Given the description of an element on the screen output the (x, y) to click on. 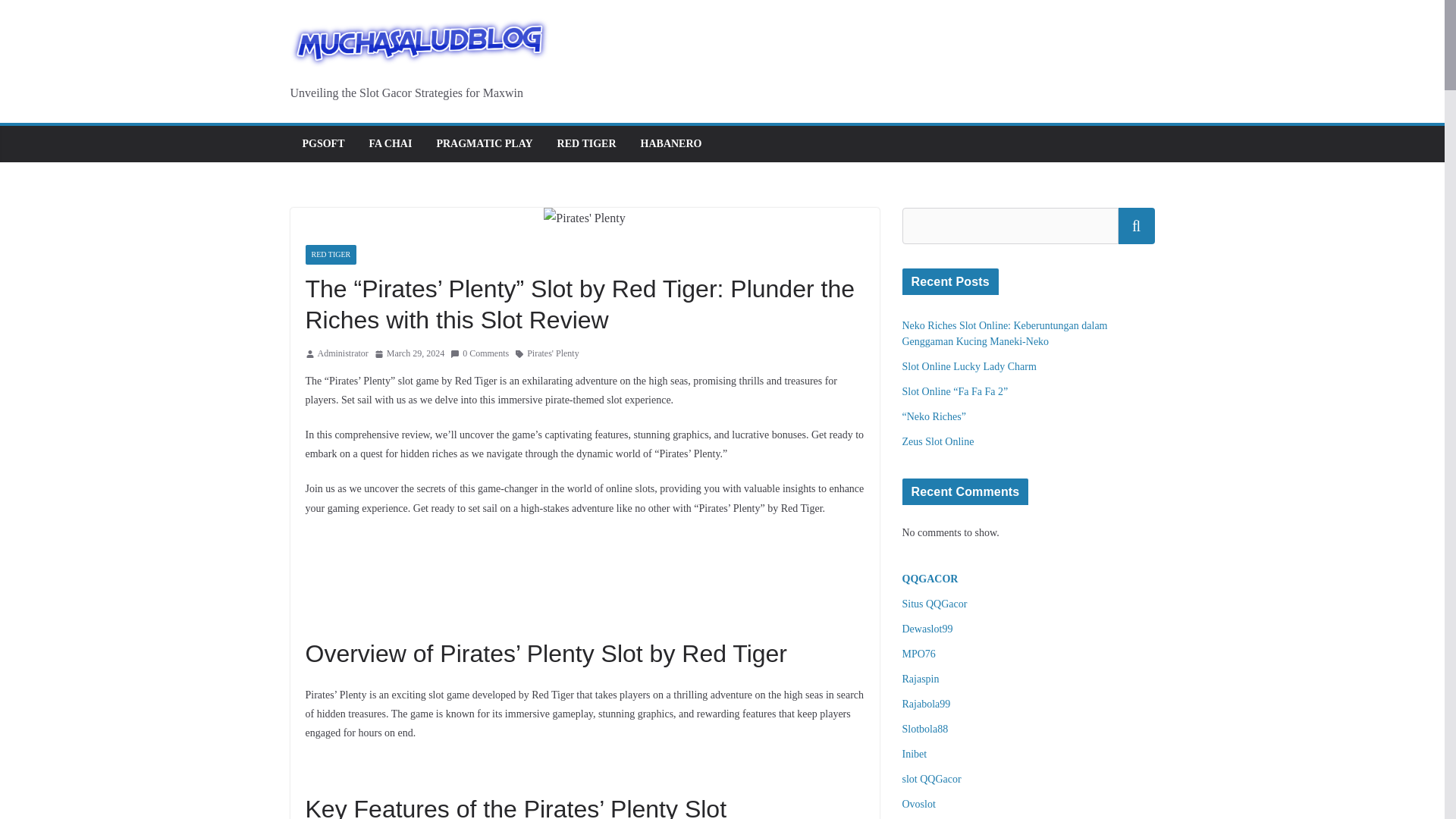
Rajabola99 (926, 704)
Administrator (342, 353)
Search (1136, 226)
slot QQGacor (931, 778)
RED TIGER (586, 143)
March 29, 2024 (409, 353)
Ovoslot (919, 803)
Zeus Slot Online (938, 441)
Dewaslot99 (927, 628)
4:52 am (409, 353)
QQGACOR (930, 578)
0 Comments (478, 353)
MPO76 (919, 654)
Inibet (914, 754)
